Given the description of an element on the screen output the (x, y) to click on. 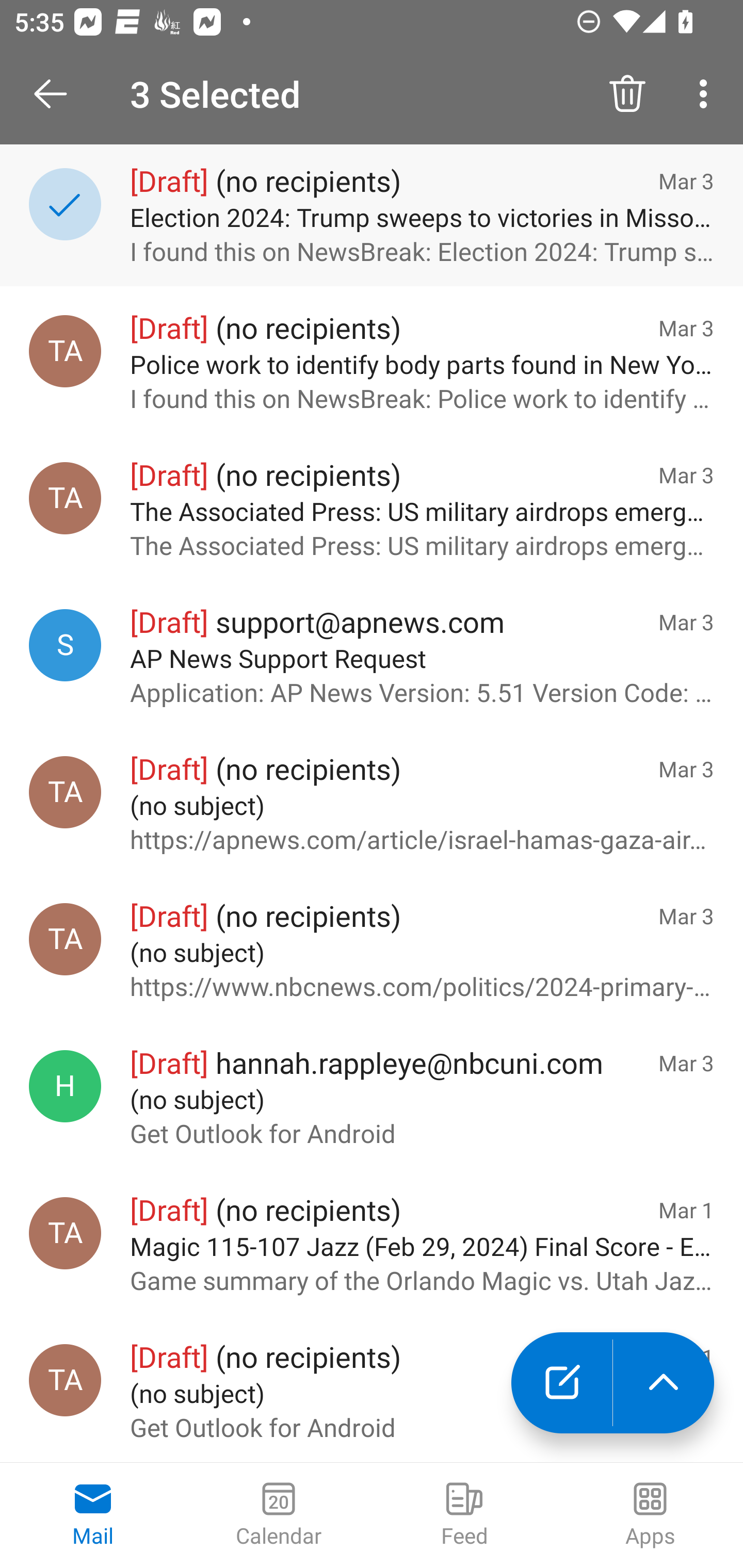
Delete (626, 93)
More options (706, 93)
Open Navigation Drawer (57, 94)
Test Appium, testappium002@outlook.com (64, 351)
Test Appium, testappium002@outlook.com (64, 498)
support@apnews.com (64, 645)
Test Appium, testappium002@outlook.com (64, 791)
Test Appium, testappium002@outlook.com (64, 939)
hannah.rappleye@nbcuni.com (64, 1086)
Test Appium, testappium002@outlook.com (64, 1233)
New mail (561, 1382)
launch the extended action menu (663, 1382)
Test Appium, testappium002@outlook.com (64, 1379)
Calendar (278, 1515)
Feed (464, 1515)
Apps (650, 1515)
